Given the description of an element on the screen output the (x, y) to click on. 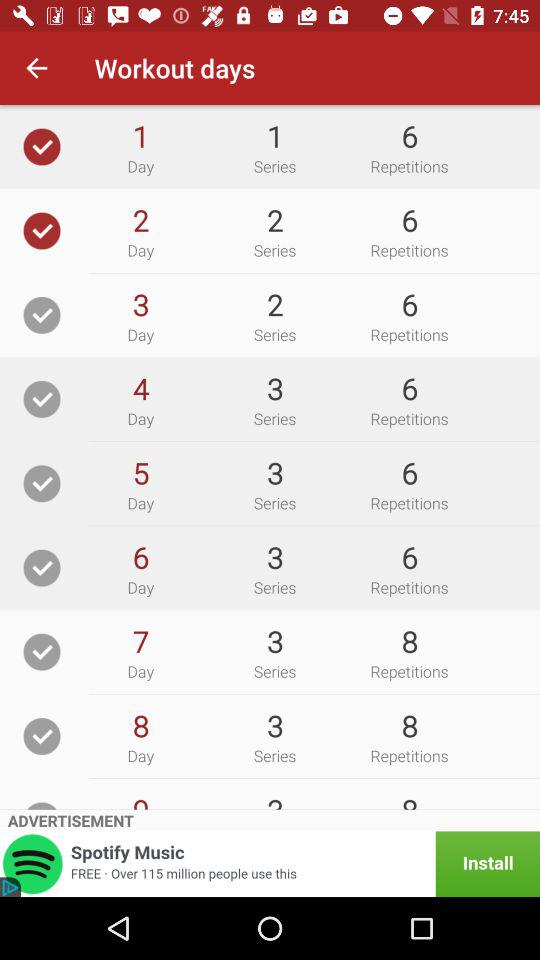
swipe until 7 (140, 641)
